Given the description of an element on the screen output the (x, y) to click on. 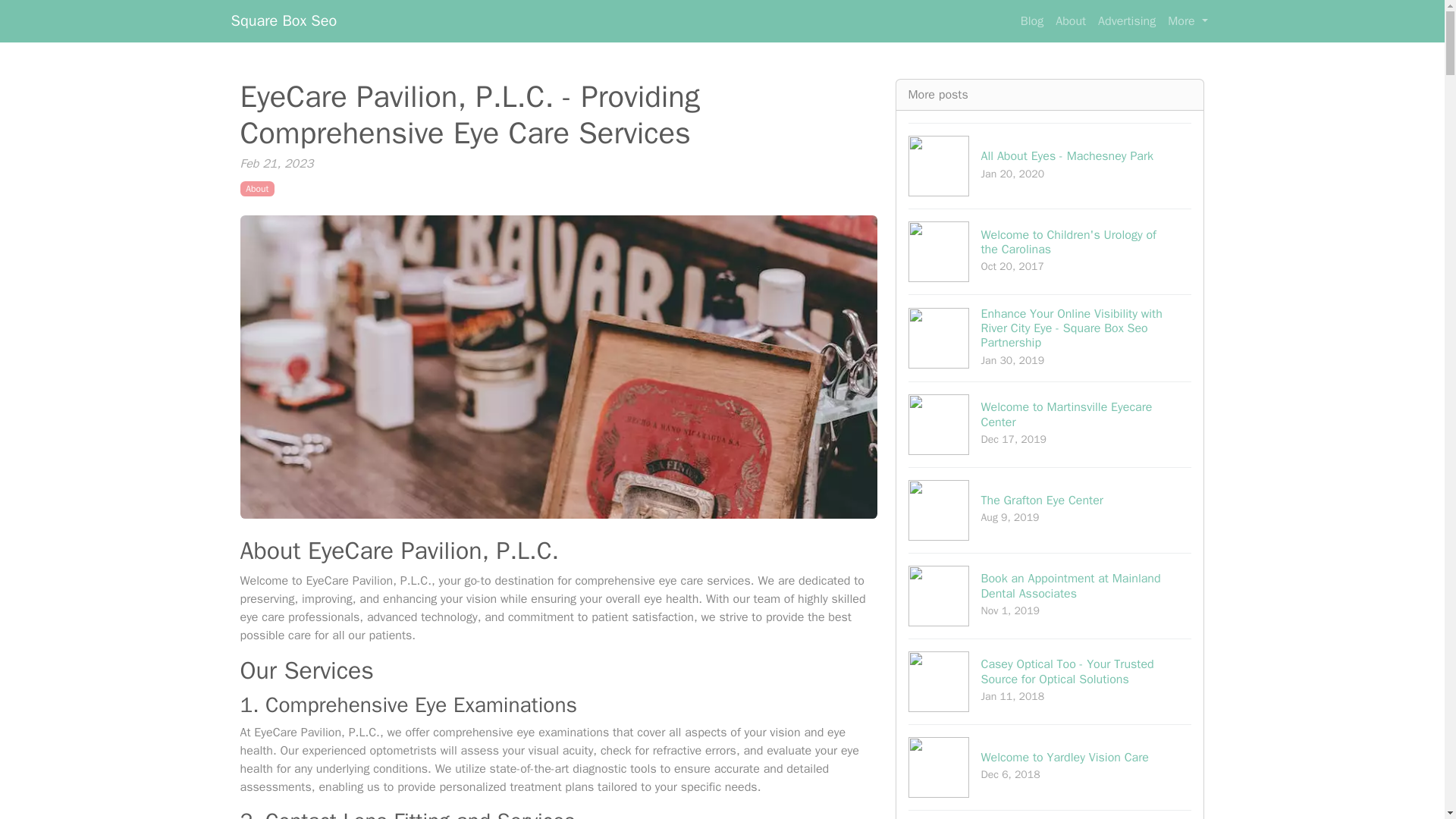
More (1050, 814)
Blog (1186, 20)
Advertising (1050, 165)
About (1050, 766)
Square Box Seo (1050, 423)
About (1031, 20)
